Given the description of an element on the screen output the (x, y) to click on. 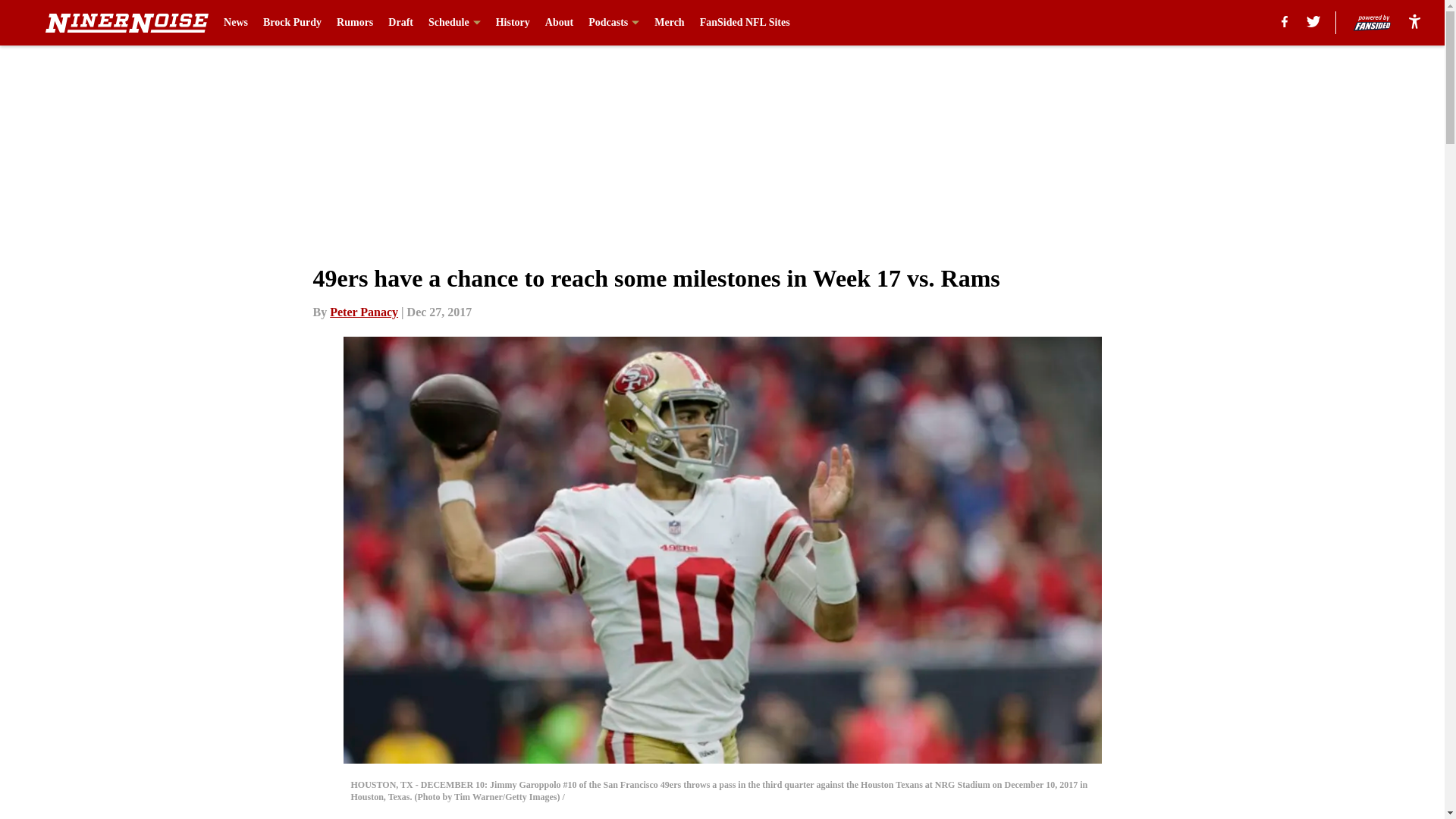
News (235, 22)
Rumors (354, 22)
Merch (668, 22)
History (512, 22)
About (558, 22)
Brock Purdy (292, 22)
Peter Panacy (363, 311)
FanSided NFL Sites (745, 22)
Draft (400, 22)
